Given the description of an element on the screen output the (x, y) to click on. 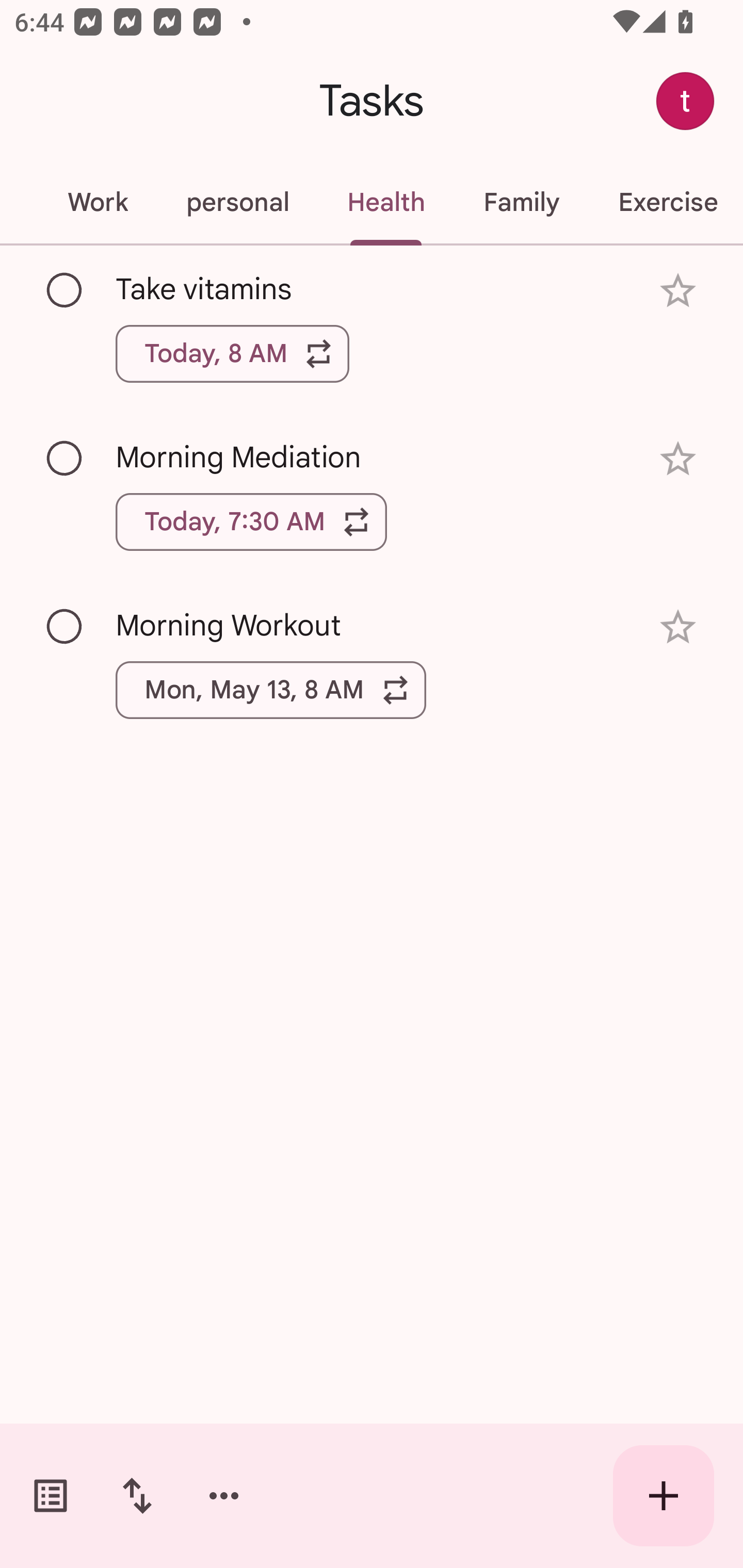
Work (96, 202)
personal (237, 202)
Family (520, 202)
Exercise (665, 202)
Add star (677, 290)
Mark as complete (64, 290)
Today, 8 AM (232, 353)
Add star (677, 458)
Mark as complete (64, 459)
Today, 7:30 AM (251, 522)
Add star (677, 627)
Mark as complete (64, 627)
Mon, May 13, 8 AM (270, 689)
Switch task lists (50, 1495)
Create new task (663, 1495)
Change sort order (136, 1495)
More options (223, 1495)
